Given the description of an element on the screen output the (x, y) to click on. 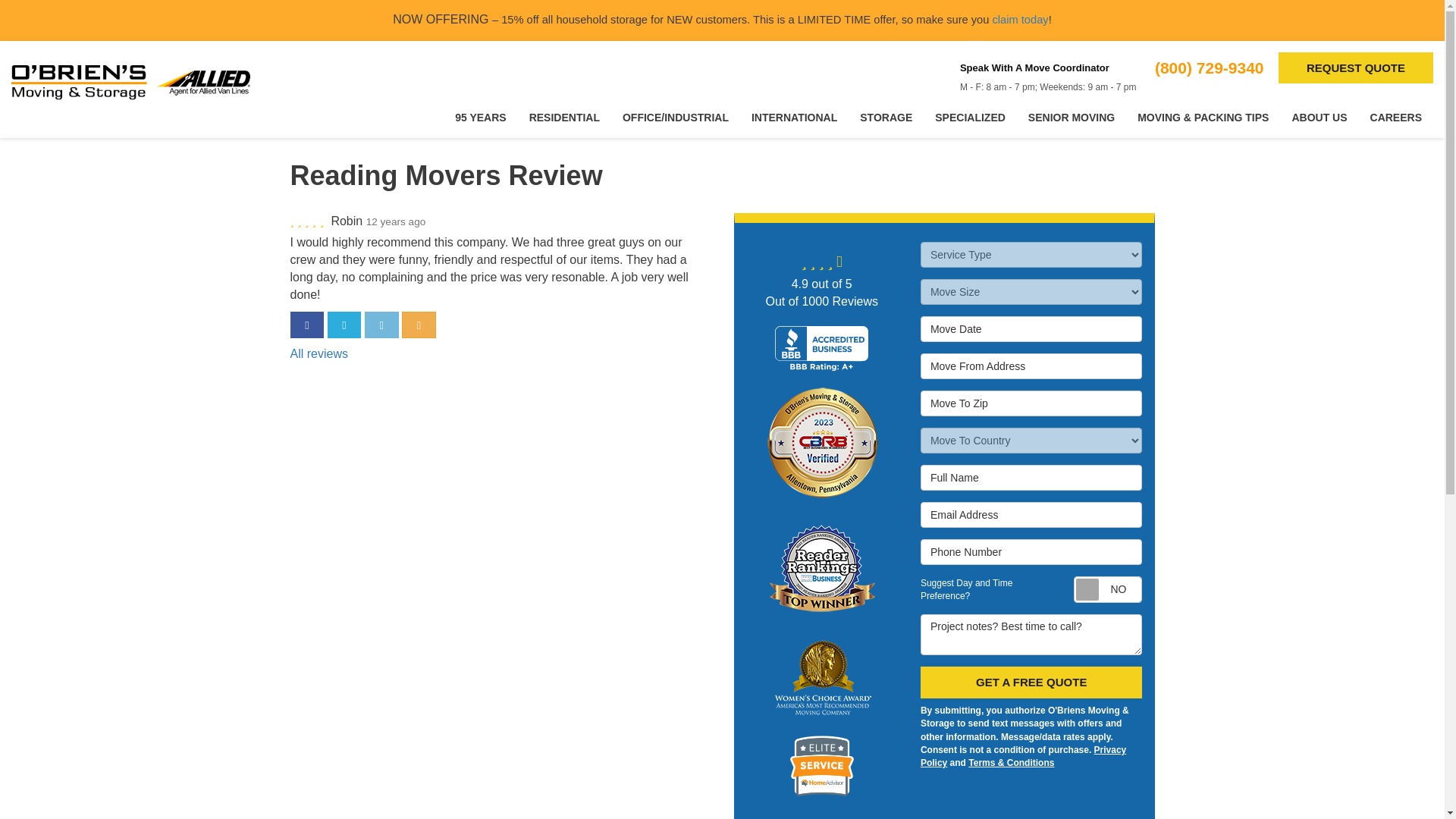
STORAGE (885, 118)
claim today (1019, 19)
INTERNATIONAL (793, 118)
REQUEST QUOTE (1355, 67)
95 YEARS (480, 118)
5 Stars (307, 220)
SPECIALIZED (969, 118)
SENIOR MOVING (1070, 118)
RESIDENTIAL (564, 118)
REQUEST QUOTE (1355, 67)
